Given the description of an element on the screen output the (x, y) to click on. 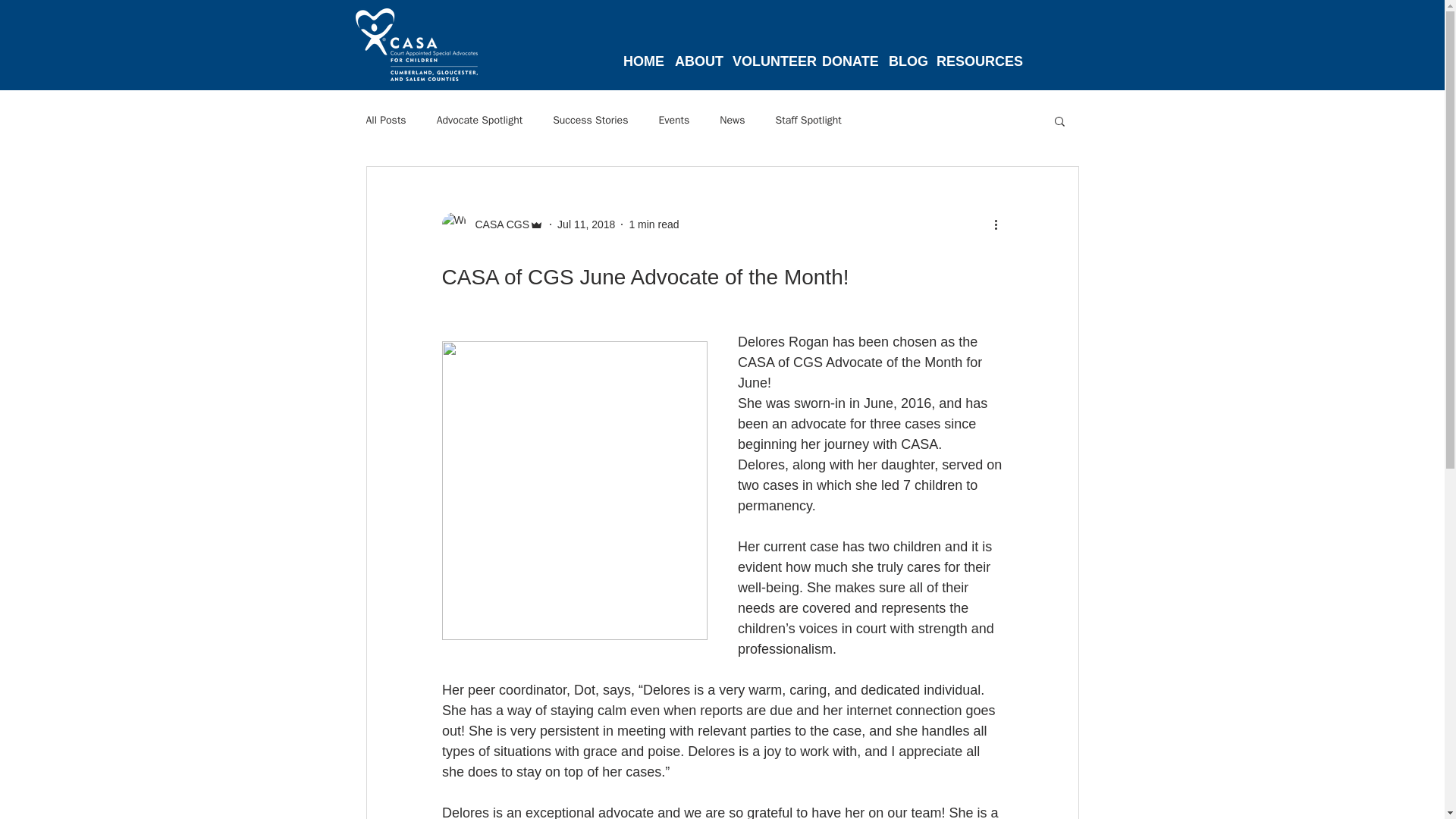
1 min read (653, 224)
Staff Spotlight (808, 120)
HOME (642, 54)
Events (673, 120)
News (731, 120)
BLOG (906, 54)
CASA CGS (492, 224)
Jul 11, 2018 (585, 224)
Advocate Spotlight (479, 120)
All Posts (385, 120)
CASA CGS (497, 224)
Success Stories (590, 120)
